Given the description of an element on the screen output the (x, y) to click on. 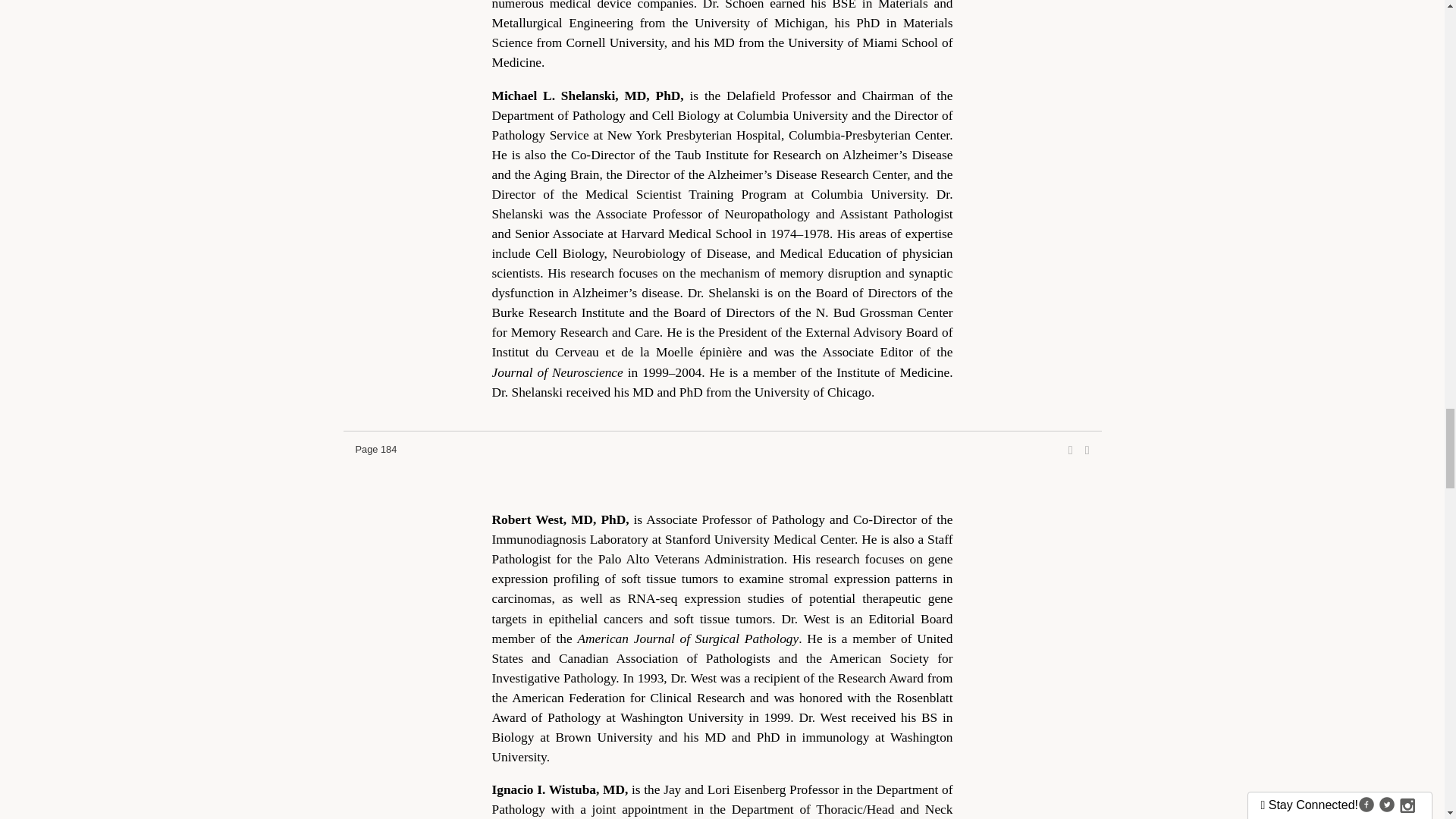
Share this page (1070, 450)
Cite this page (1086, 450)
